Given the description of an element on the screen output the (x, y) to click on. 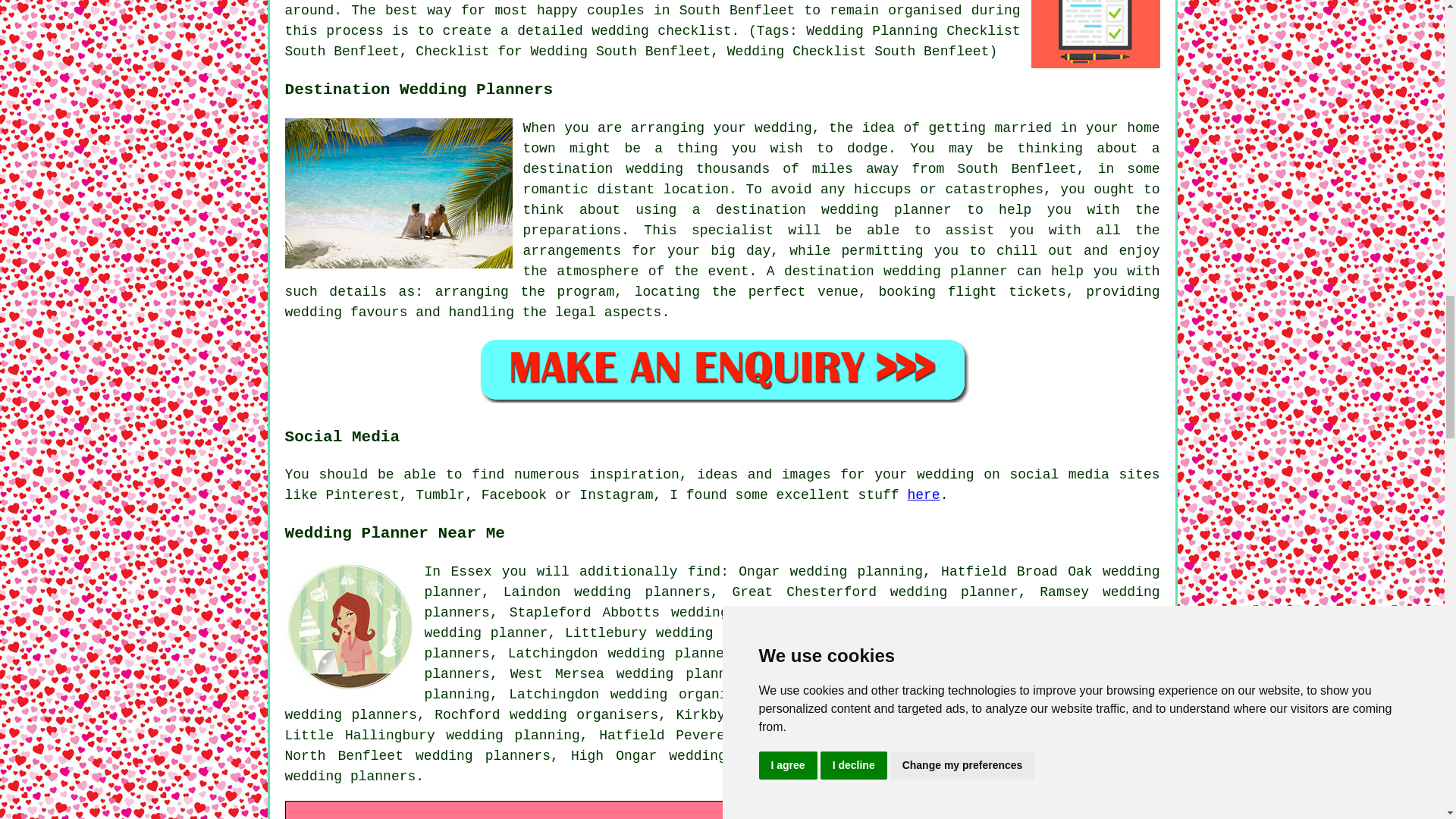
Wedding Checklist South Benfleet (1095, 33)
wedding planner (941, 632)
Essex Wedding Planner Near Me (349, 626)
wedding planners (792, 601)
